Given the description of an element on the screen output the (x, y) to click on. 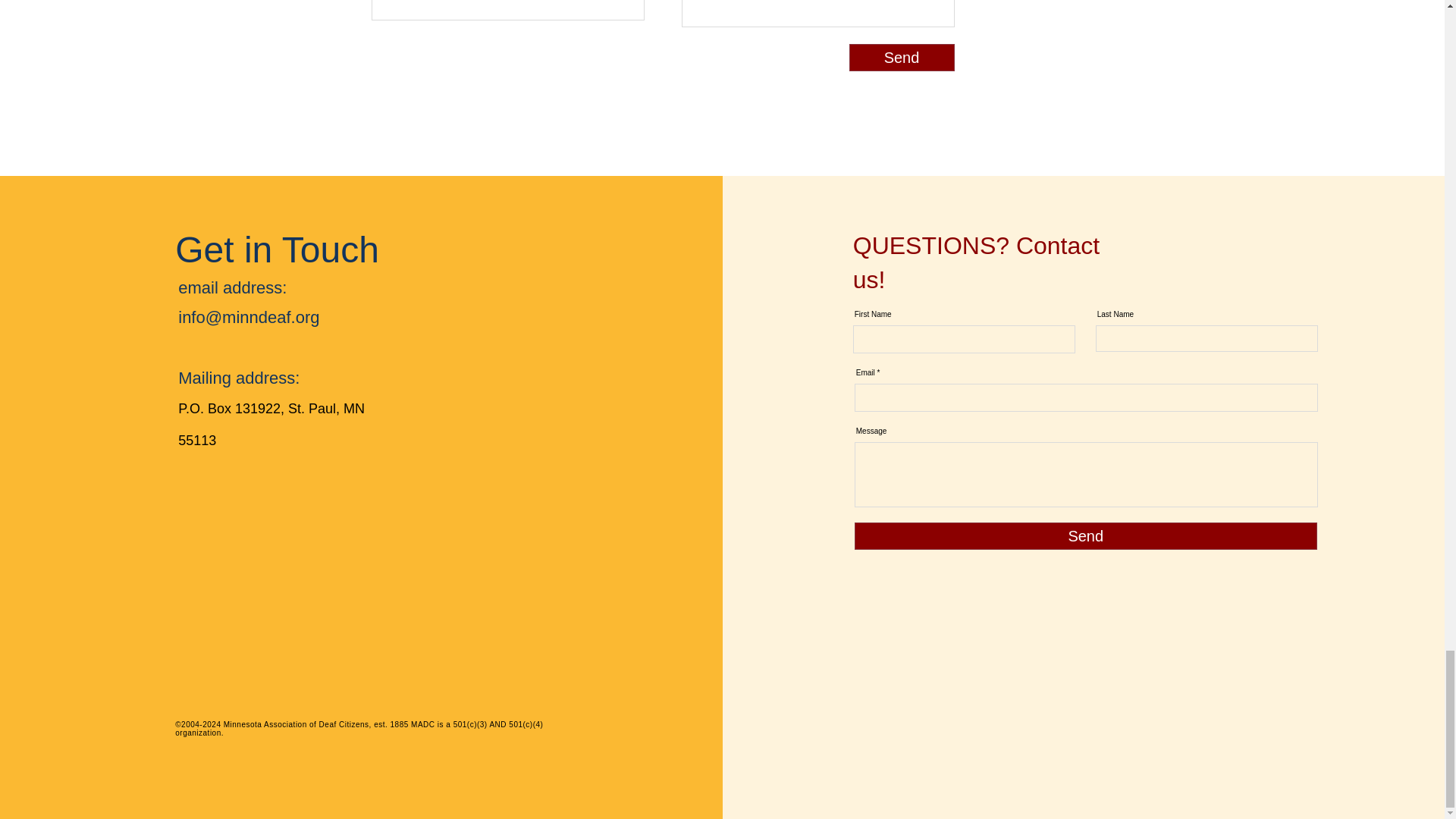
Send (1085, 535)
Send (901, 57)
